Given the description of an element on the screen output the (x, y) to click on. 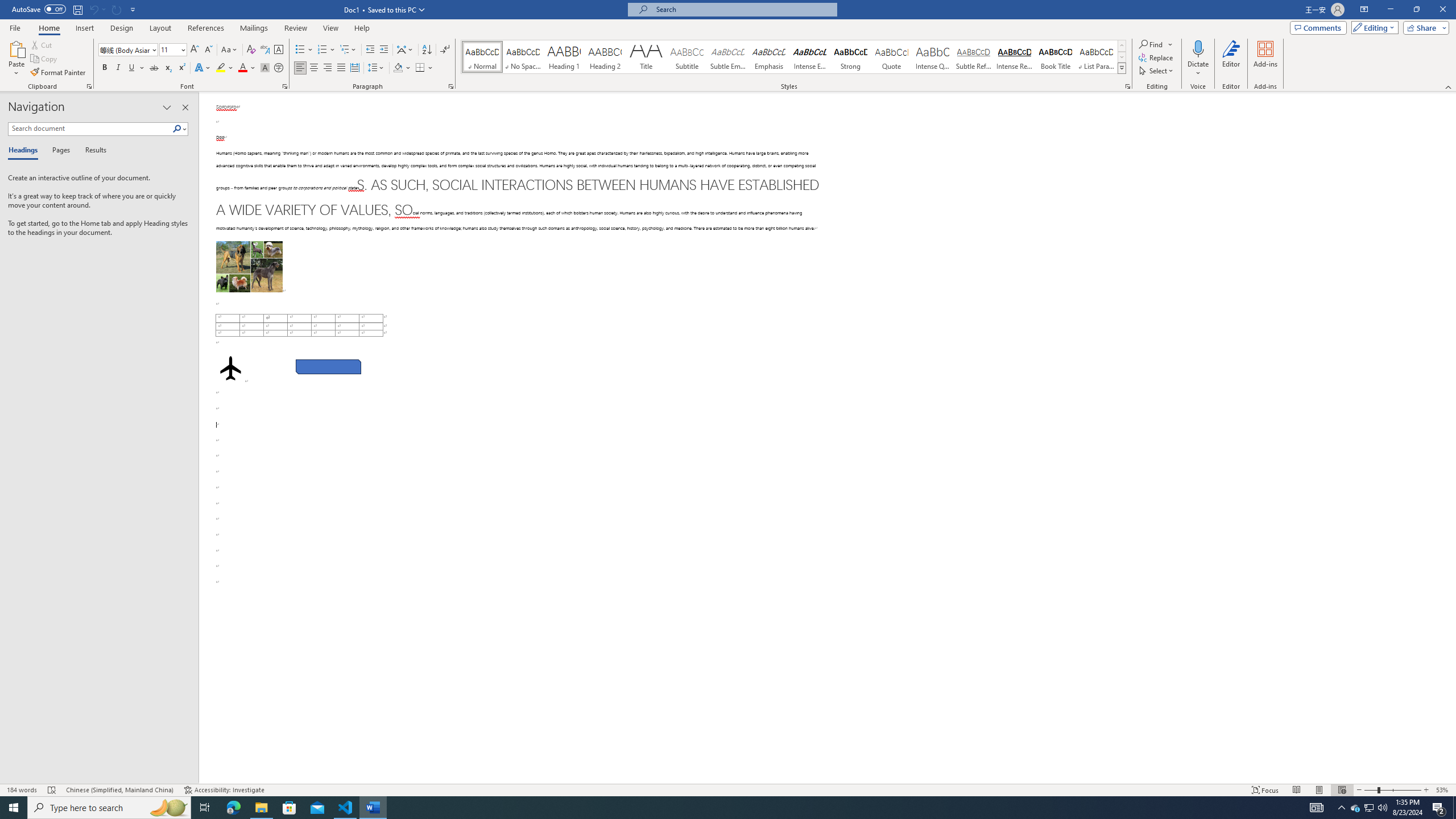
Can't Repeat (117, 9)
Intense Quote (932, 56)
